Given the description of an element on the screen output the (x, y) to click on. 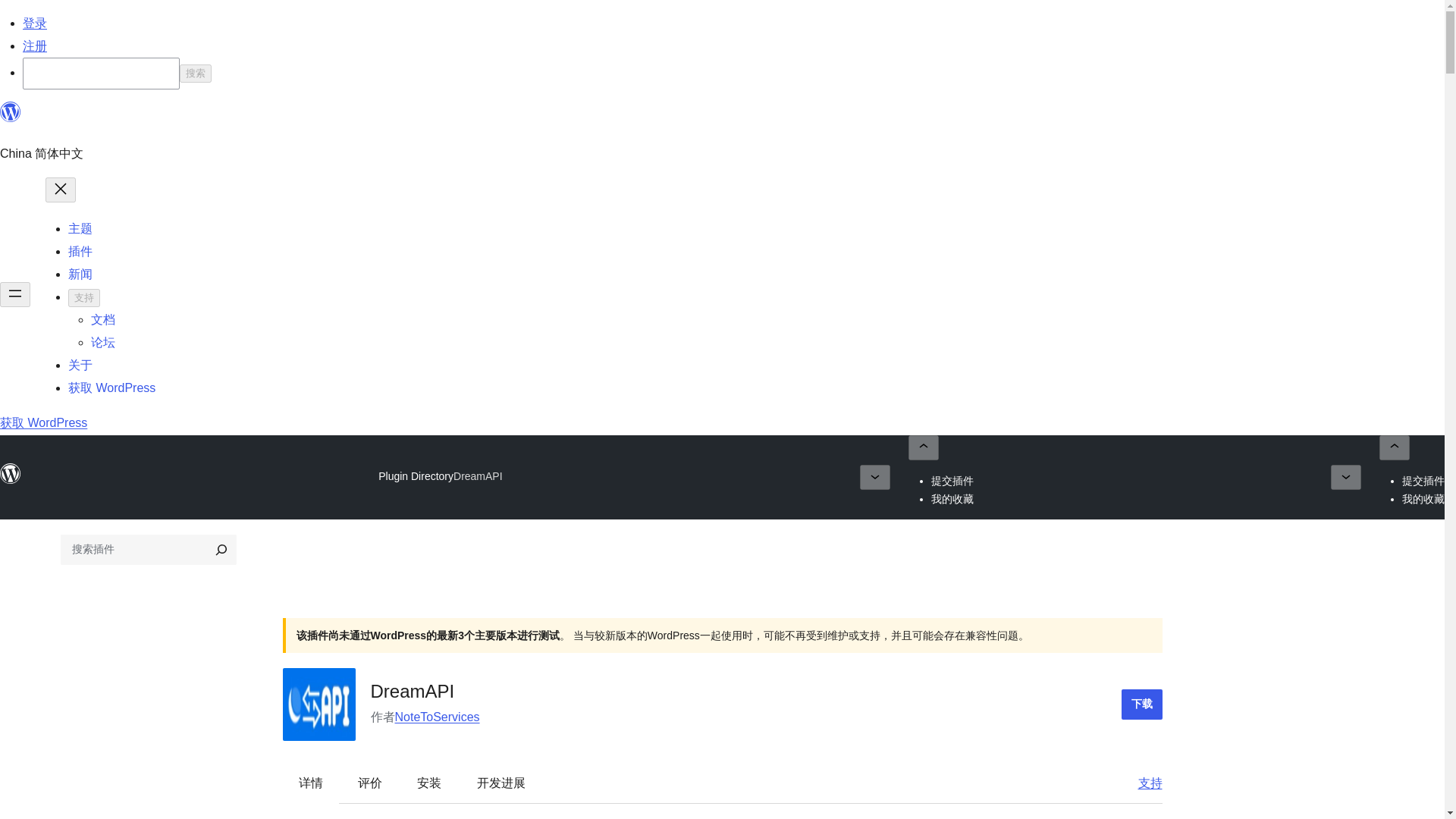
WordPress.org (10, 111)
DreamAPI (477, 476)
WordPress.org (10, 118)
Plugin Directory (415, 476)
WordPress.org (10, 480)
NoteToServices (436, 716)
WordPress.org (10, 473)
